Given the description of an element on the screen output the (x, y) to click on. 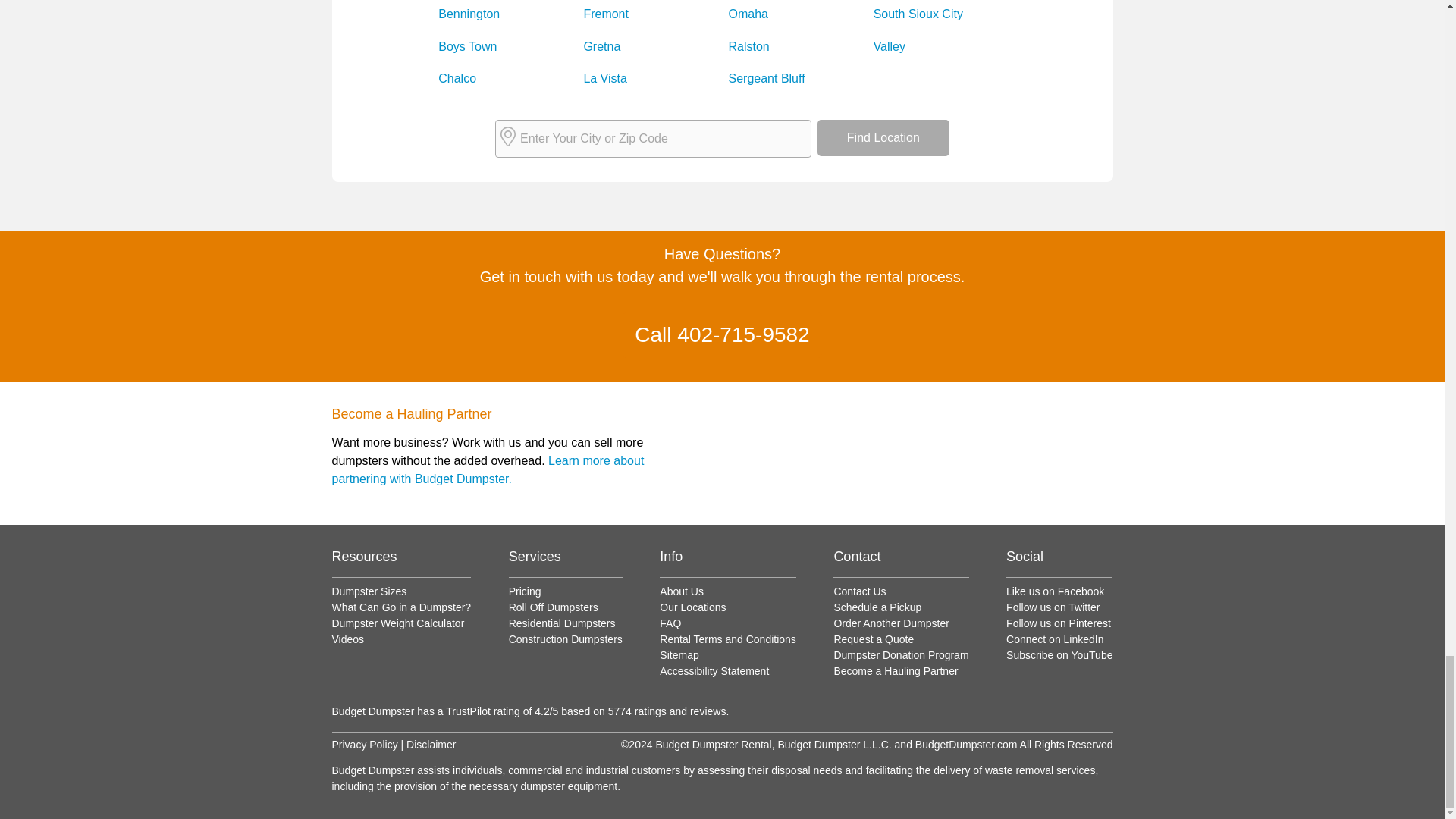
disclaimer (430, 744)
disclaimer (364, 744)
